Given the description of an element on the screen output the (x, y) to click on. 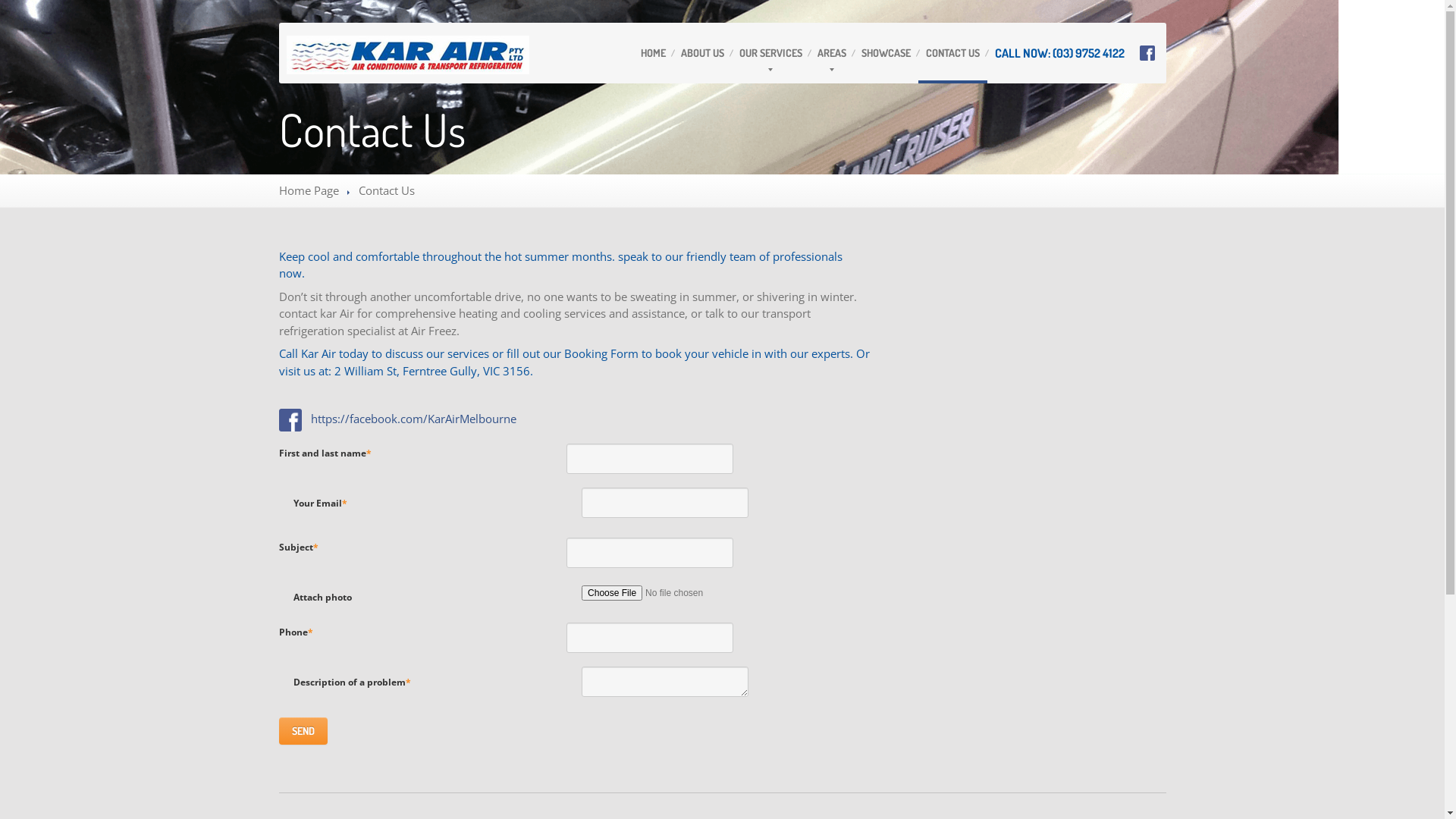
AREAS Element type: text (831, 52)
OUR SERVICES Element type: text (770, 52)
  Element type: text (294, 418)
CONTACT US Element type: text (951, 52)
ABOUT US Element type: text (702, 52)
CALL NOW: (03) 9752 4122 Element type: text (1059, 52)
HOME Element type: text (652, 52)
Home Page Element type: text (308, 189)
Send Element type: text (303, 730)
https://facebook.com/KarAirMelbourne Element type: text (413, 418)
SHOWCASE Element type: text (885, 52)
